Given the description of an element on the screen output the (x, y) to click on. 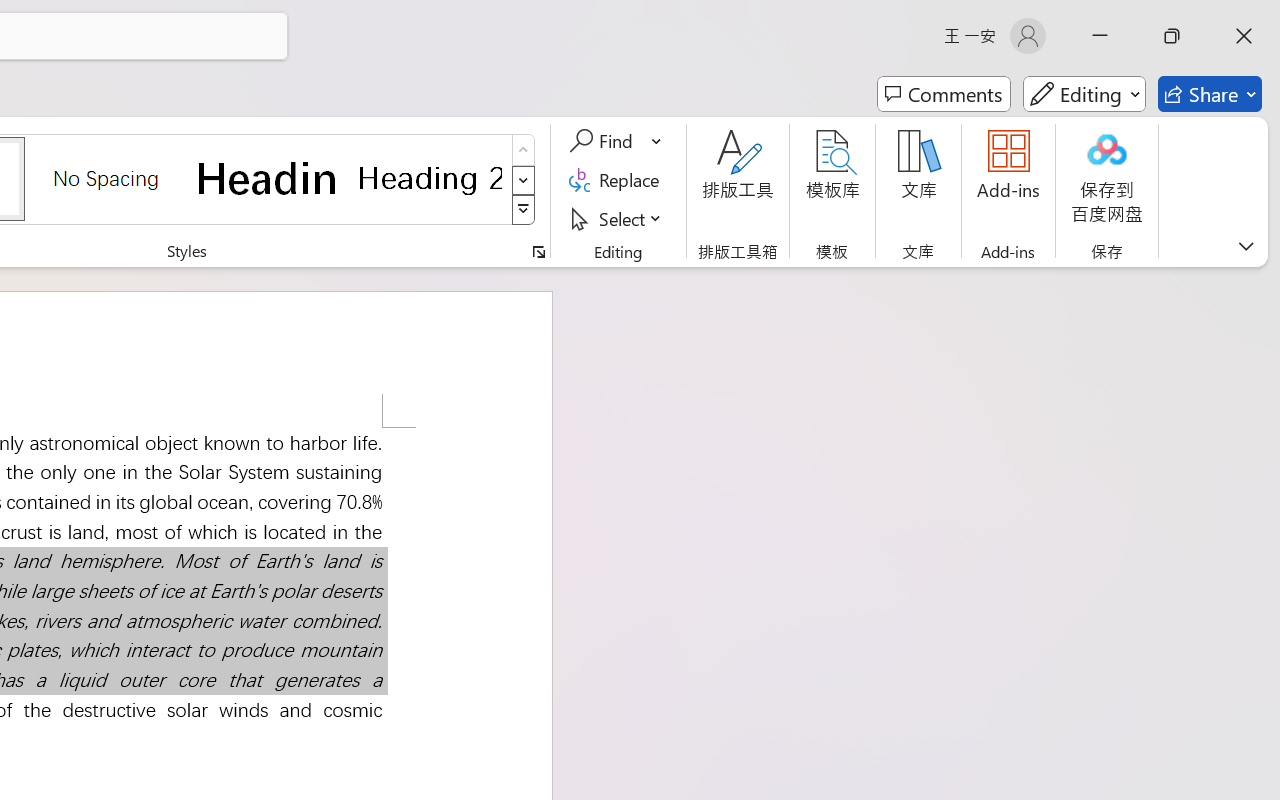
Heading 2 (429, 178)
Select (618, 218)
Styles... (538, 252)
Replace... (617, 179)
Row up (523, 150)
